Given the description of an element on the screen output the (x, y) to click on. 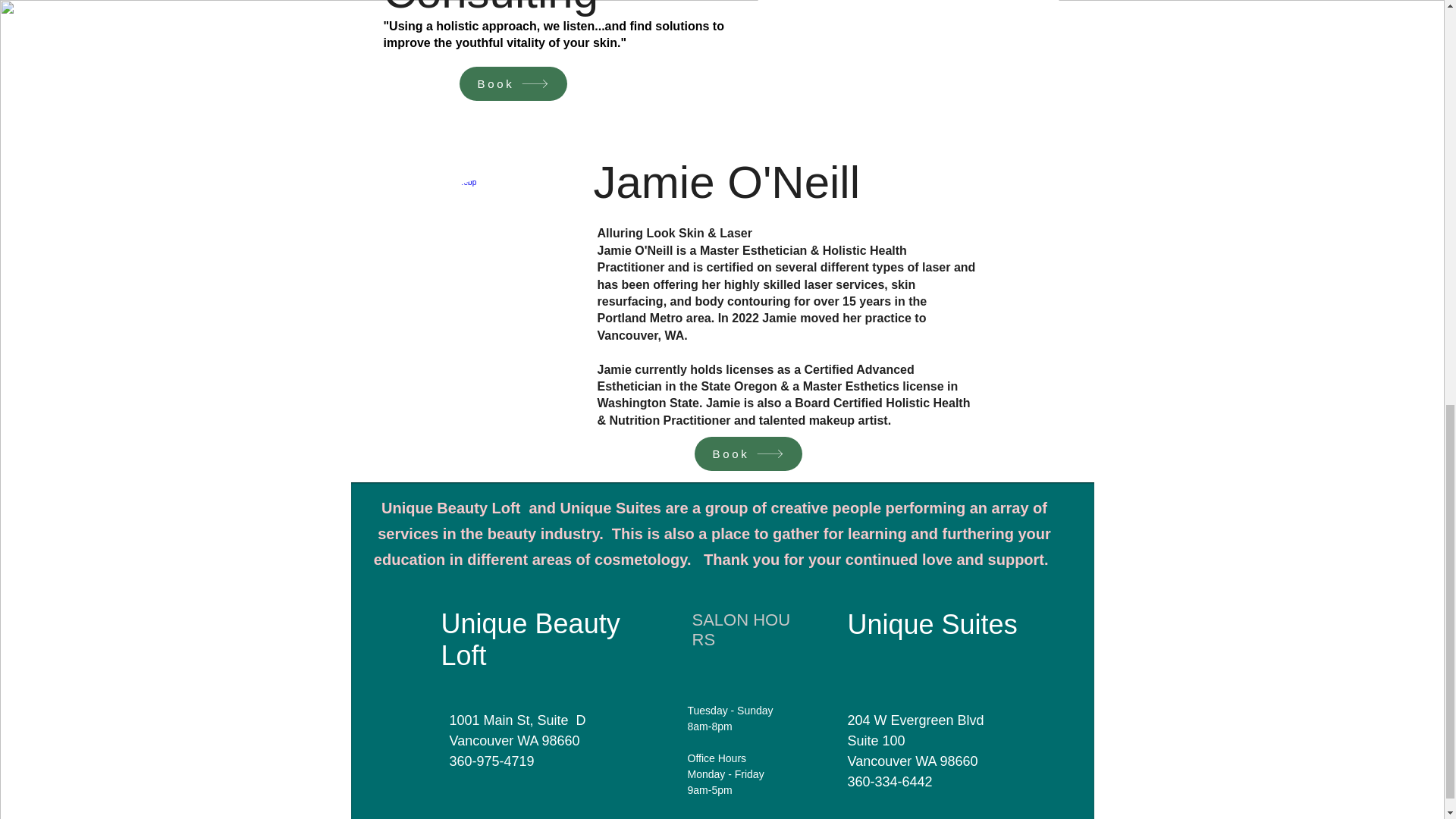
Book (513, 83)
Book (748, 453)
